Given the description of an element on the screen output the (x, y) to click on. 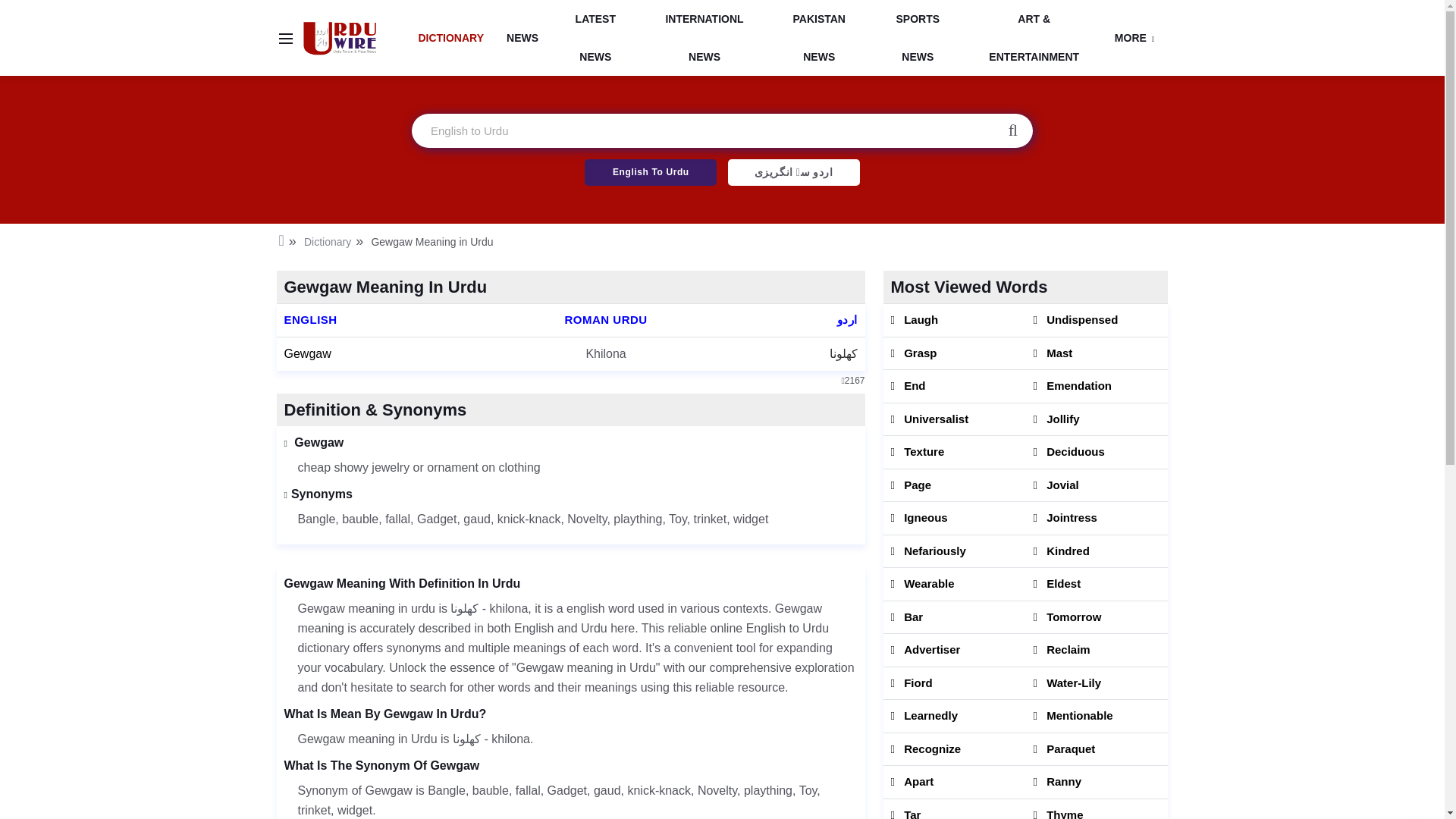
MORE (1134, 37)
NEWS (522, 37)
Gadget (436, 518)
INTERNATIONL NEWS (705, 38)
Bangle (315, 518)
LATEST NEWS (596, 38)
Gewgaw (306, 353)
Bangle (446, 789)
Toy (677, 518)
gaud (476, 518)
